Given the description of an element on the screen output the (x, y) to click on. 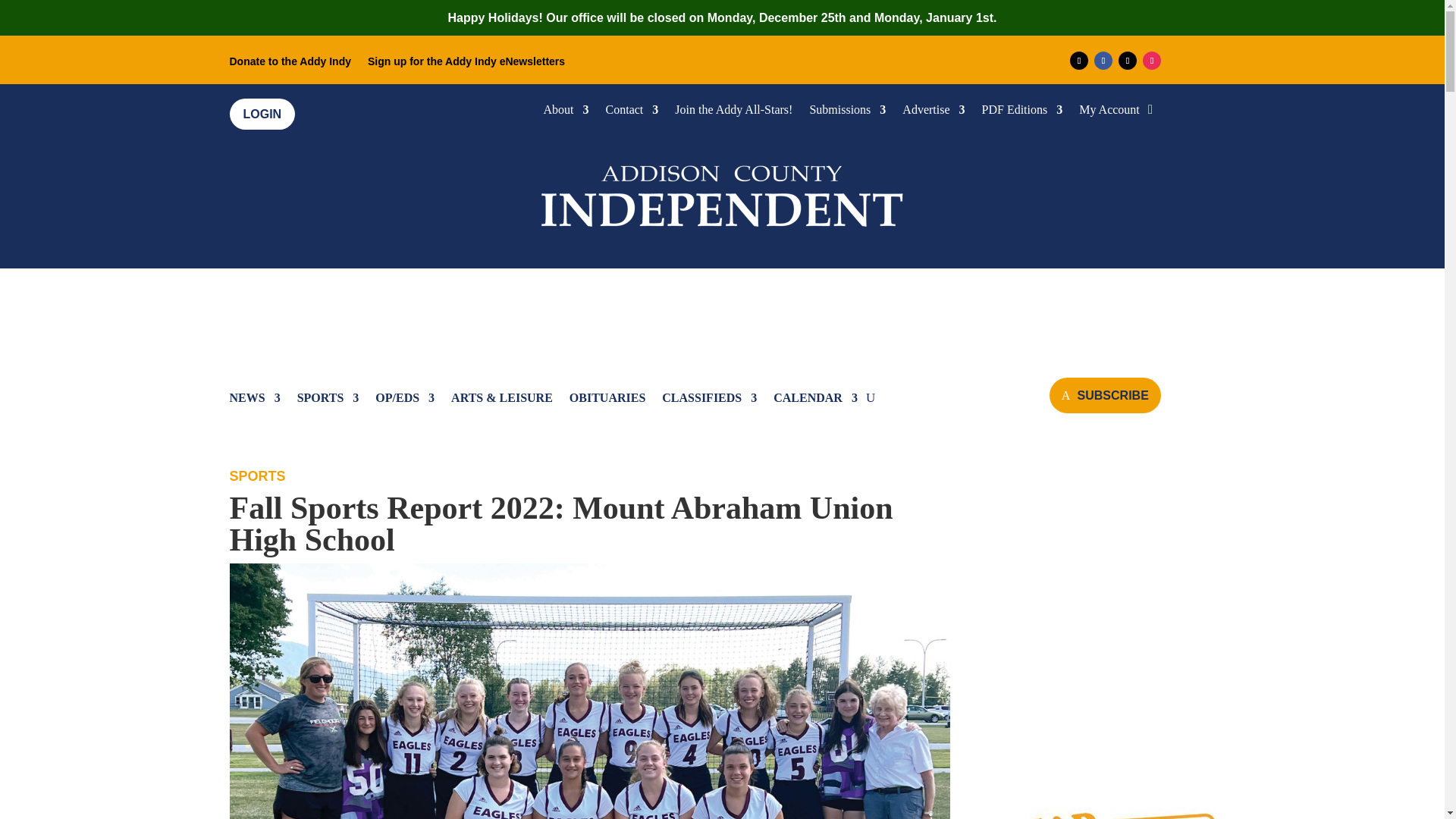
3rd party ad content (722, 314)
addison-logo (721, 192)
Contact (632, 112)
About (566, 112)
PDF Editions (1021, 112)
LOGIN (261, 113)
Submissions (847, 112)
Follow on X (1127, 60)
Follow on Instagram (1151, 60)
3rd party ad content (1100, 621)
Follow on Mail (1078, 60)
My Account (1109, 112)
Join the Addy All-Stars! (733, 112)
Sign up for the Addy Indy eNewsletters (466, 64)
Advertise (932, 112)
